Given the description of an element on the screen output the (x, y) to click on. 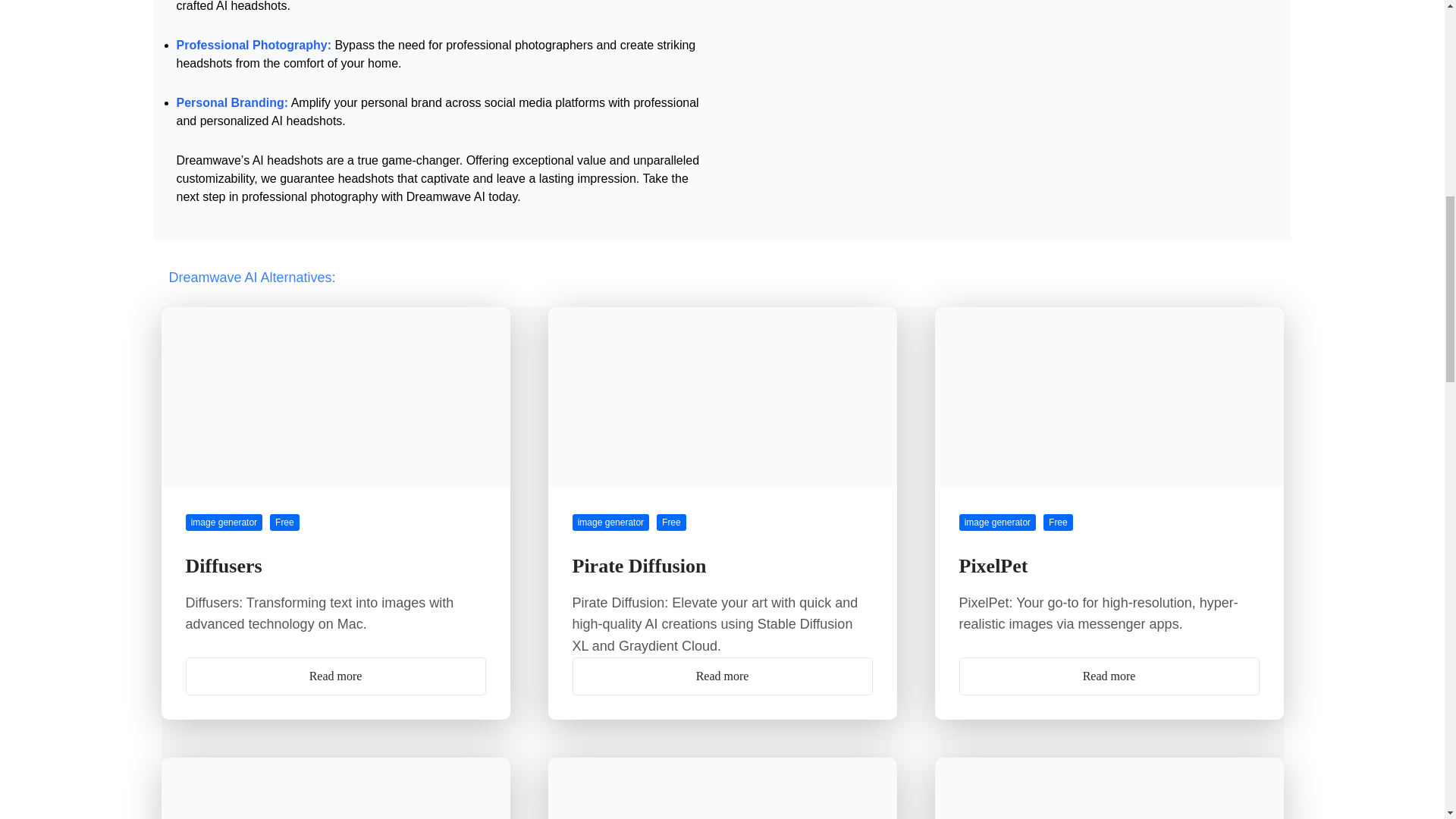
image generator (223, 522)
Read more (334, 676)
Read more (1108, 676)
Free (670, 522)
Diffusers (223, 566)
image generator (996, 522)
Read more (722, 676)
Pirate Diffusion (639, 566)
PixelPet (992, 566)
Free (284, 522)
